Given the description of an element on the screen output the (x, y) to click on. 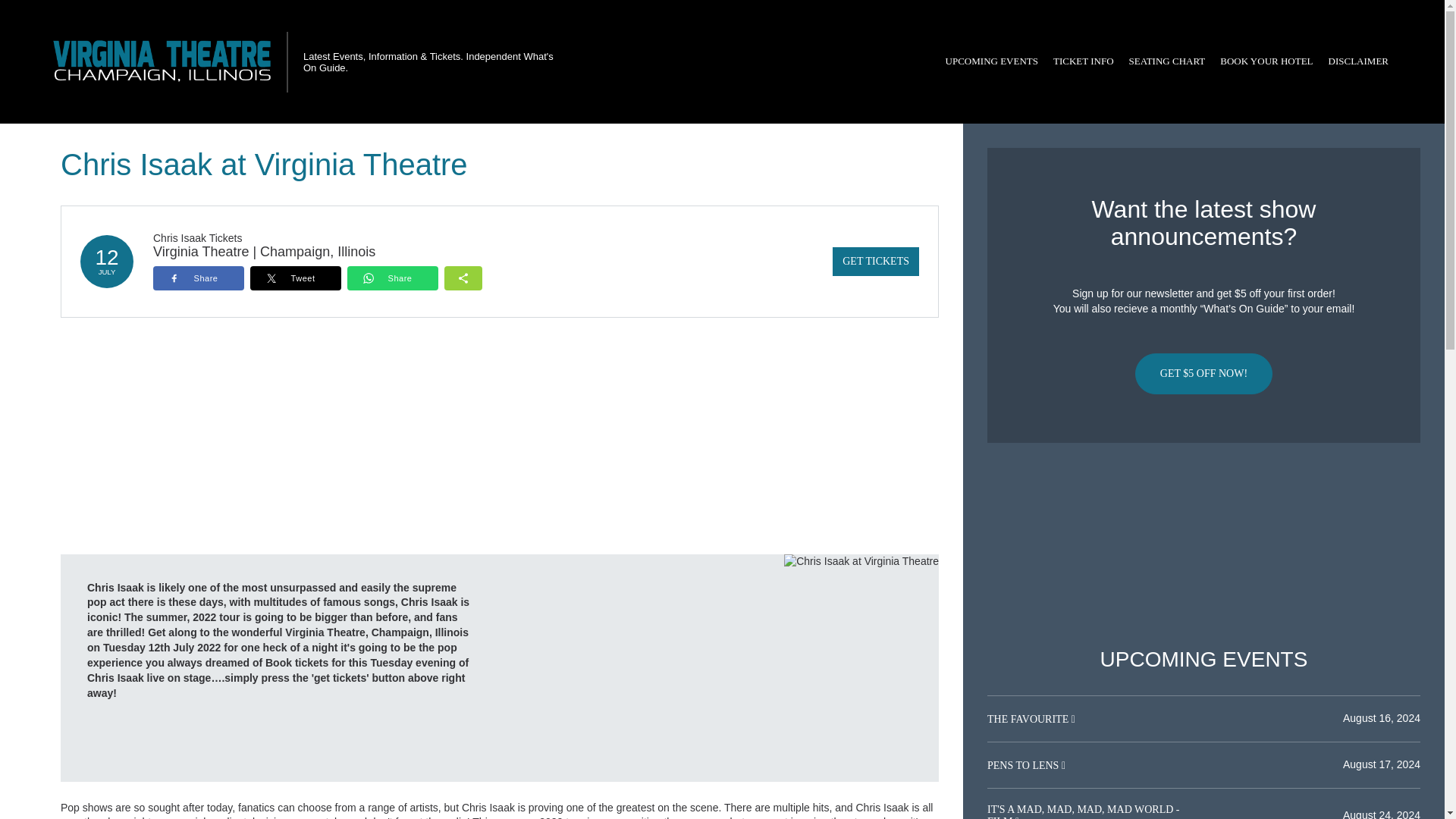
UPCOMING EVENTS (991, 61)
Advertisement (1204, 545)
BOOK YOUR HOTEL (1266, 61)
GET TICKETS (875, 261)
DISCLAIMER (1358, 61)
Chris Isaak Tickets (196, 237)
TICKET INFO (1083, 61)
SEATING CHART (1166, 61)
